Given the description of an element on the screen output the (x, y) to click on. 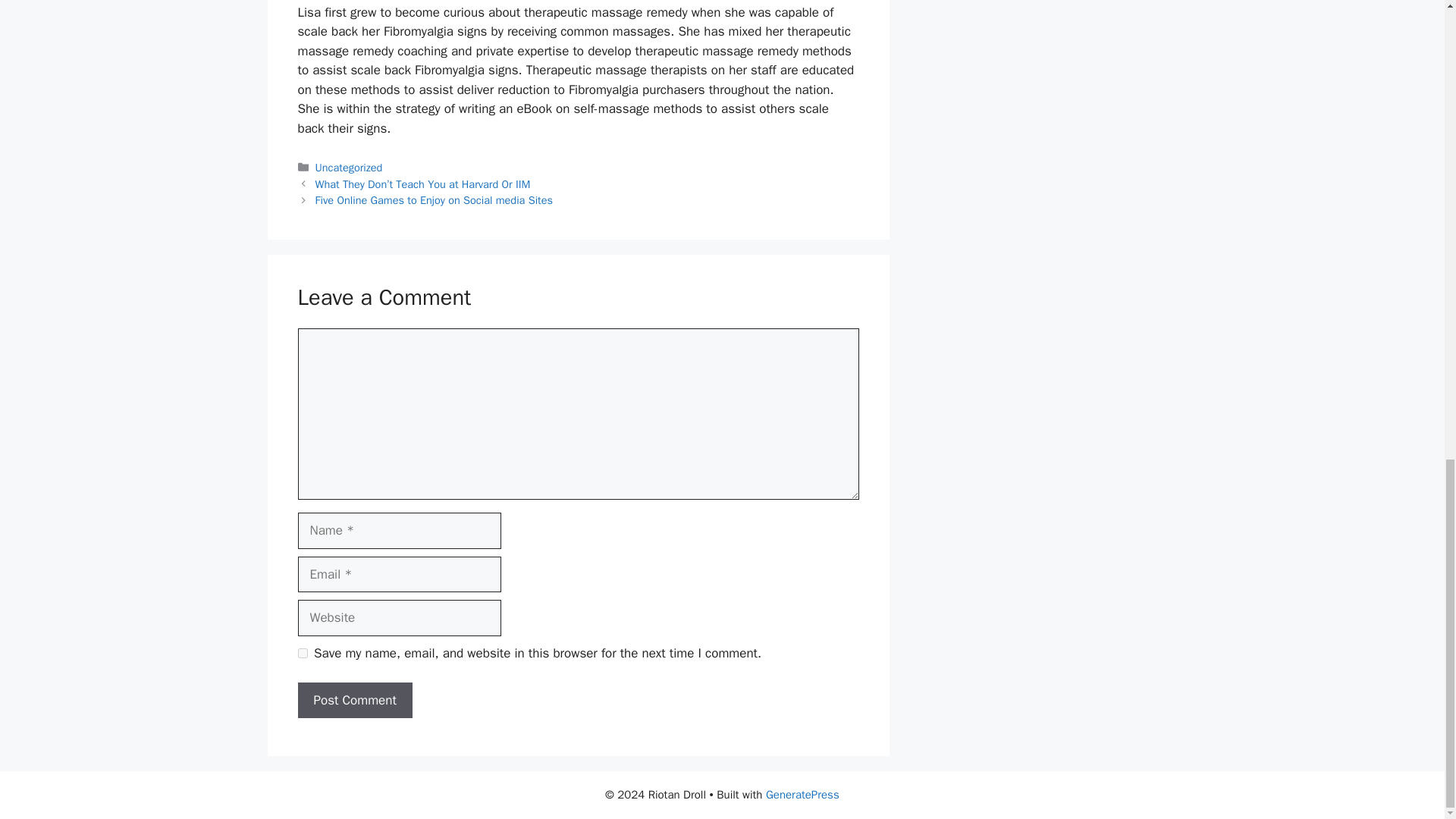
Post Comment (354, 700)
GeneratePress (802, 794)
Five Online Games to Enjoy on Social media Sites (434, 200)
Previous (423, 183)
Next (434, 200)
Uncategorized (348, 167)
yes (302, 653)
Post Comment (354, 700)
